Given the description of an element on the screen output the (x, y) to click on. 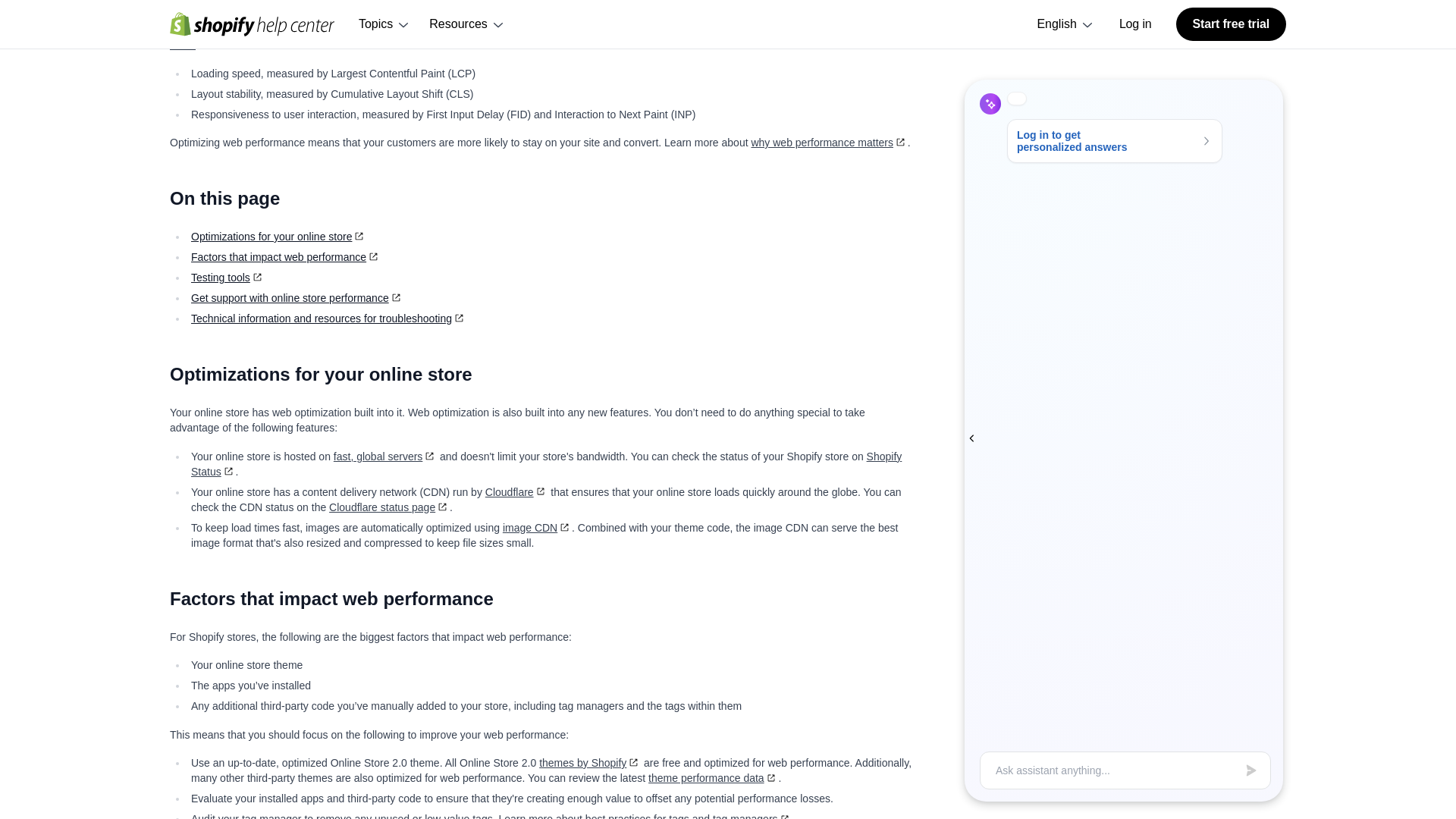
best practices for tags and tag managers (688, 816)
Cloudflare status page (389, 506)
Testing tools (227, 277)
image CDN (537, 527)
theme performance data (712, 777)
Factors that impact web performance (285, 256)
Optimizations for your online store (278, 236)
Core Web Vitals (539, 36)
Shopify Status (545, 463)
fast, global servers (384, 456)
